Given the description of an element on the screen output the (x, y) to click on. 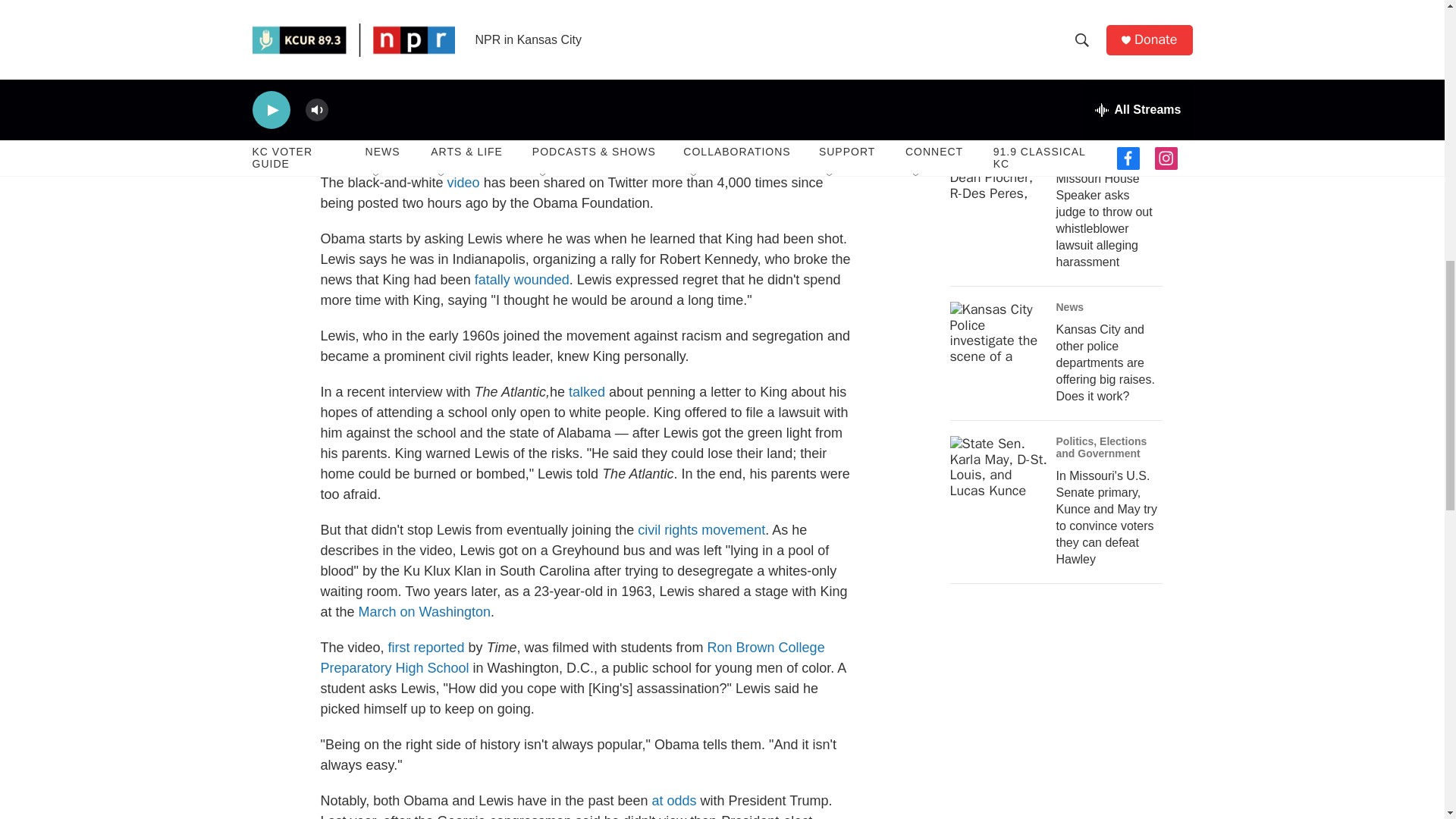
MLK50: Honoring Dr. Martin Luther King, Jr. (585, 18)
